Given the description of an element on the screen output the (x, y) to click on. 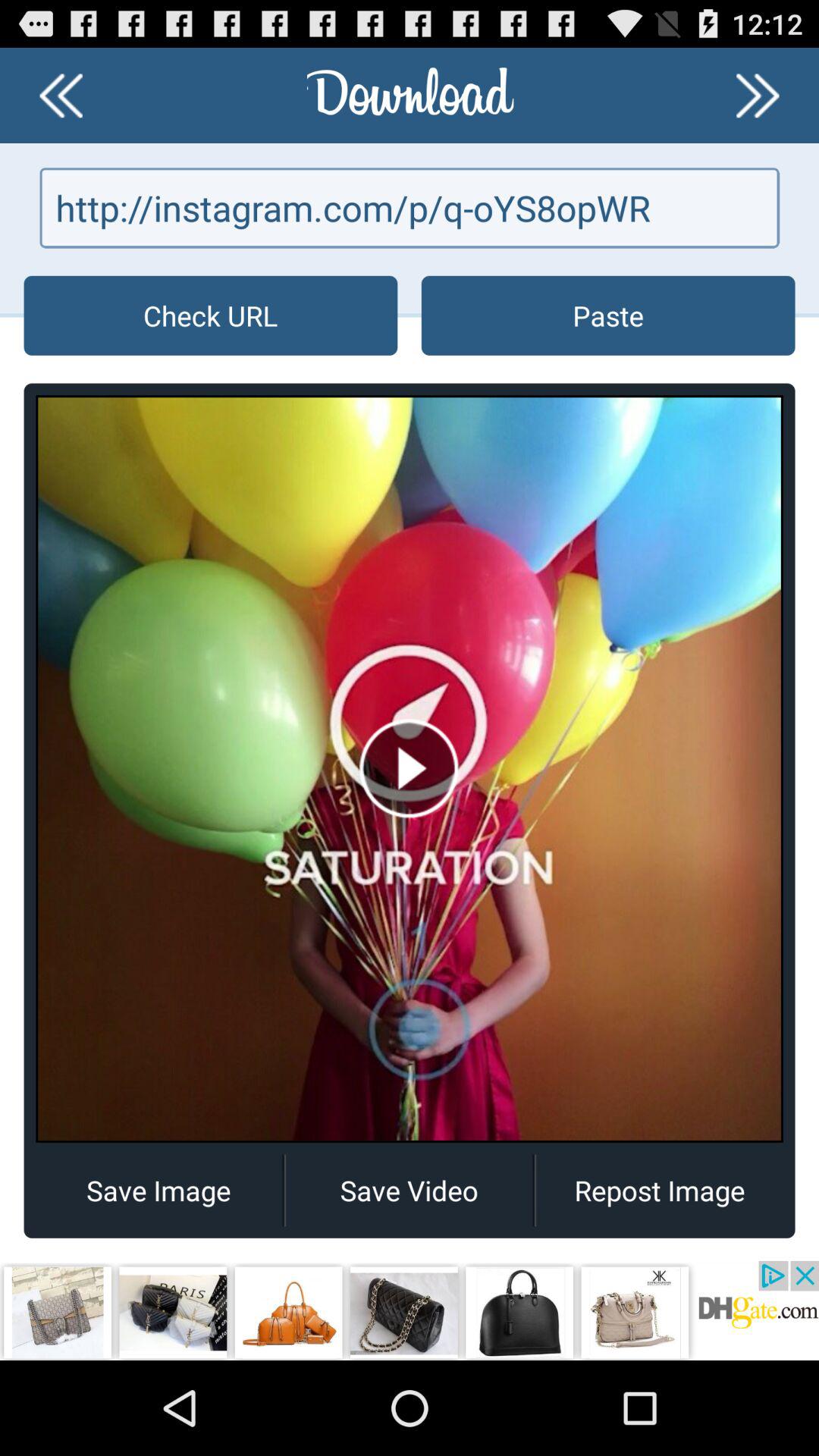
a link to move forward (757, 95)
